Given the description of an element on the screen output the (x, y) to click on. 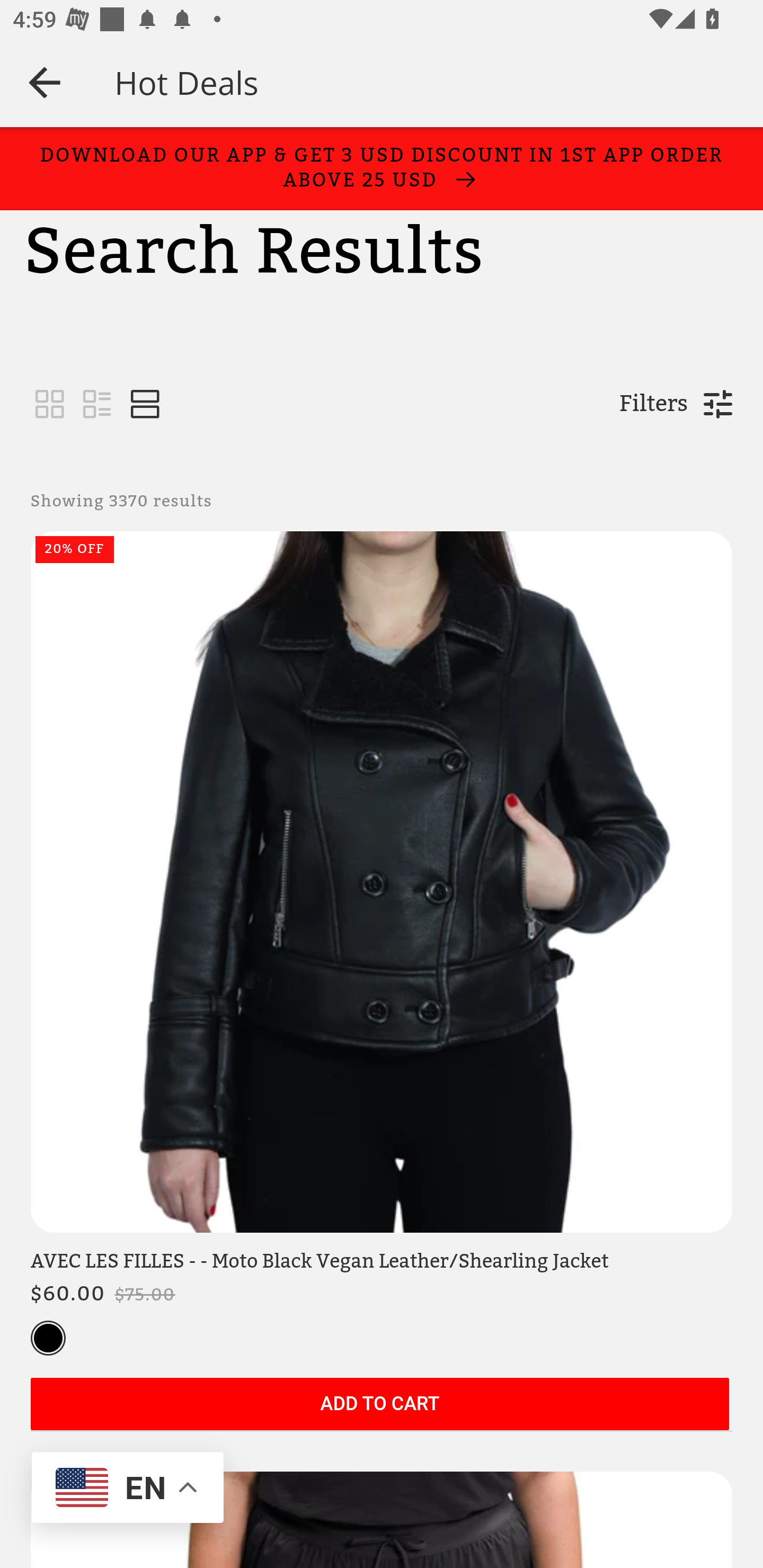
Navigate up (44, 82)
Filters (653, 404)
search-results-page?collection=sale# (50, 404)
search-results-page?collection=sale# (97, 404)
search-results-page?collection=sale# (145, 404)
Black (48, 1338)
ADD TO CART (379, 1404)
